Given the description of an element on the screen output the (x, y) to click on. 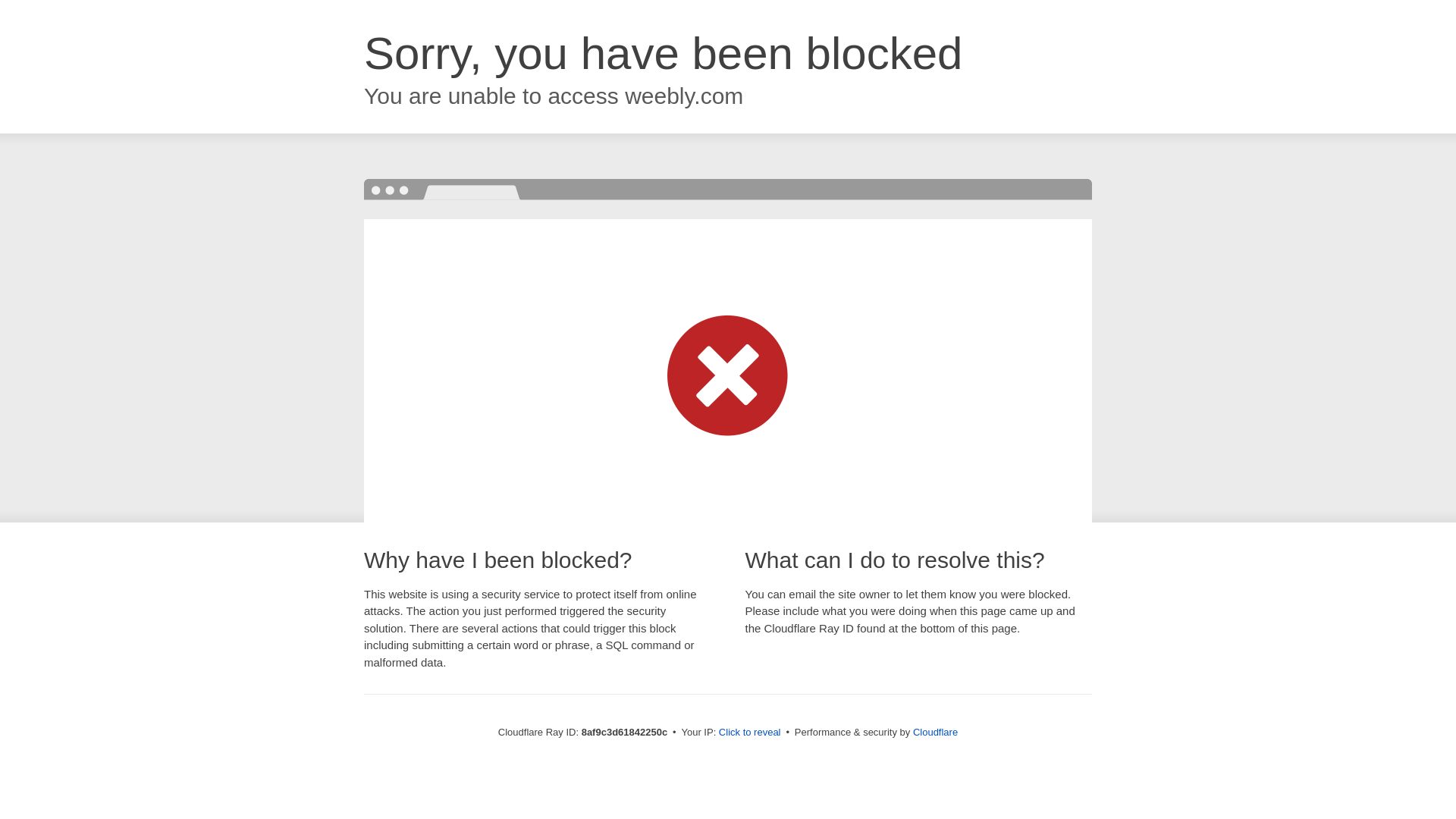
Click to reveal (749, 732)
Cloudflare (935, 731)
